Given the description of an element on the screen output the (x, y) to click on. 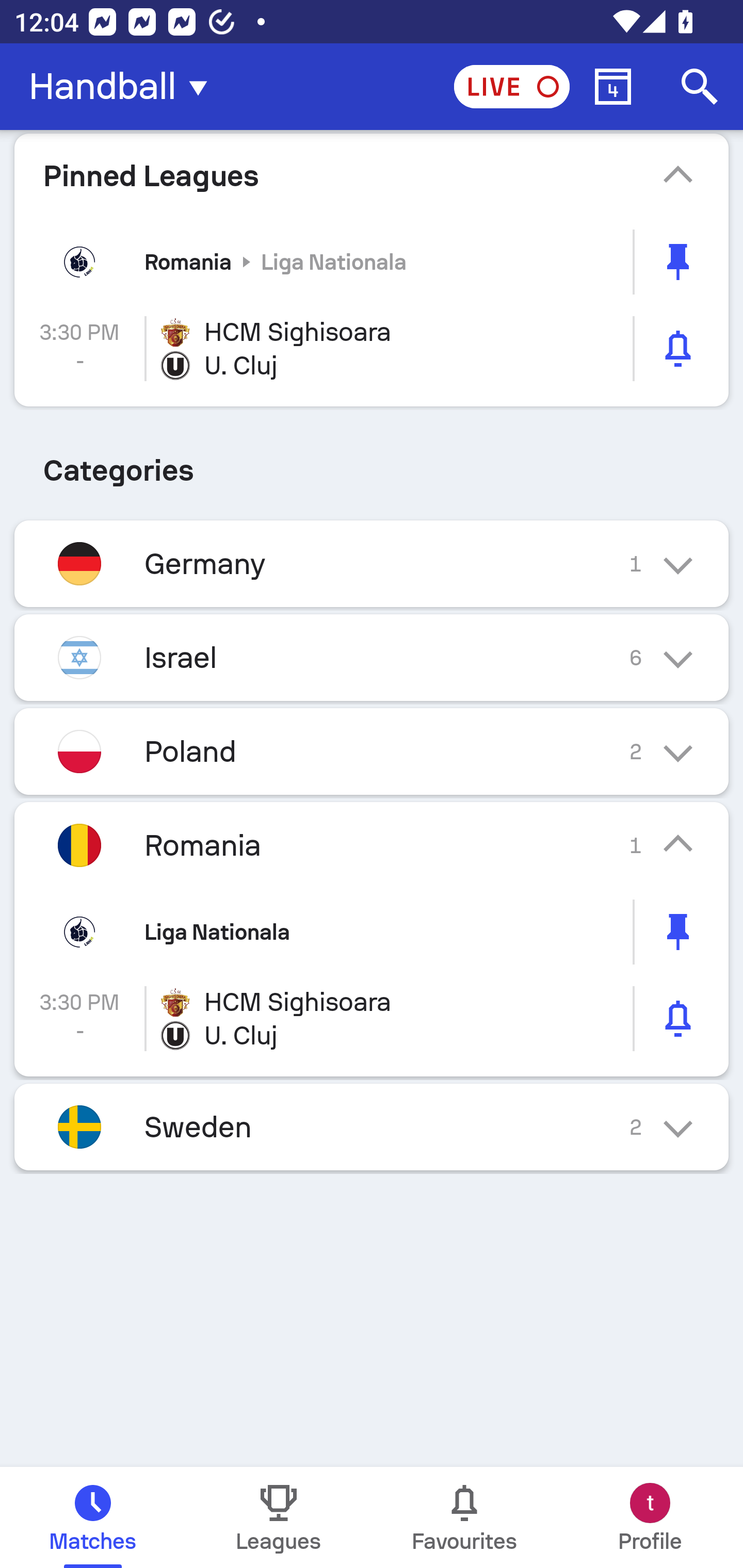
Handball (124, 86)
Calendar (612, 86)
Search (699, 86)
Pinned Leagues (371, 175)
Romania Liga Nationala (371, 261)
3:30 PM - HCM Sighisoara U. Cluj (371, 348)
Categories (371, 463)
Germany 1 (371, 563)
Israel 6 (371, 657)
Poland 2 (371, 751)
Romania 1 (371, 845)
Liga Nationala (371, 932)
3:30 PM - HCM Sighisoara U. Cluj (371, 1018)
Sweden 2 (371, 1126)
Leagues (278, 1517)
Favourites (464, 1517)
Profile (650, 1517)
